Given the description of an element on the screen output the (x, y) to click on. 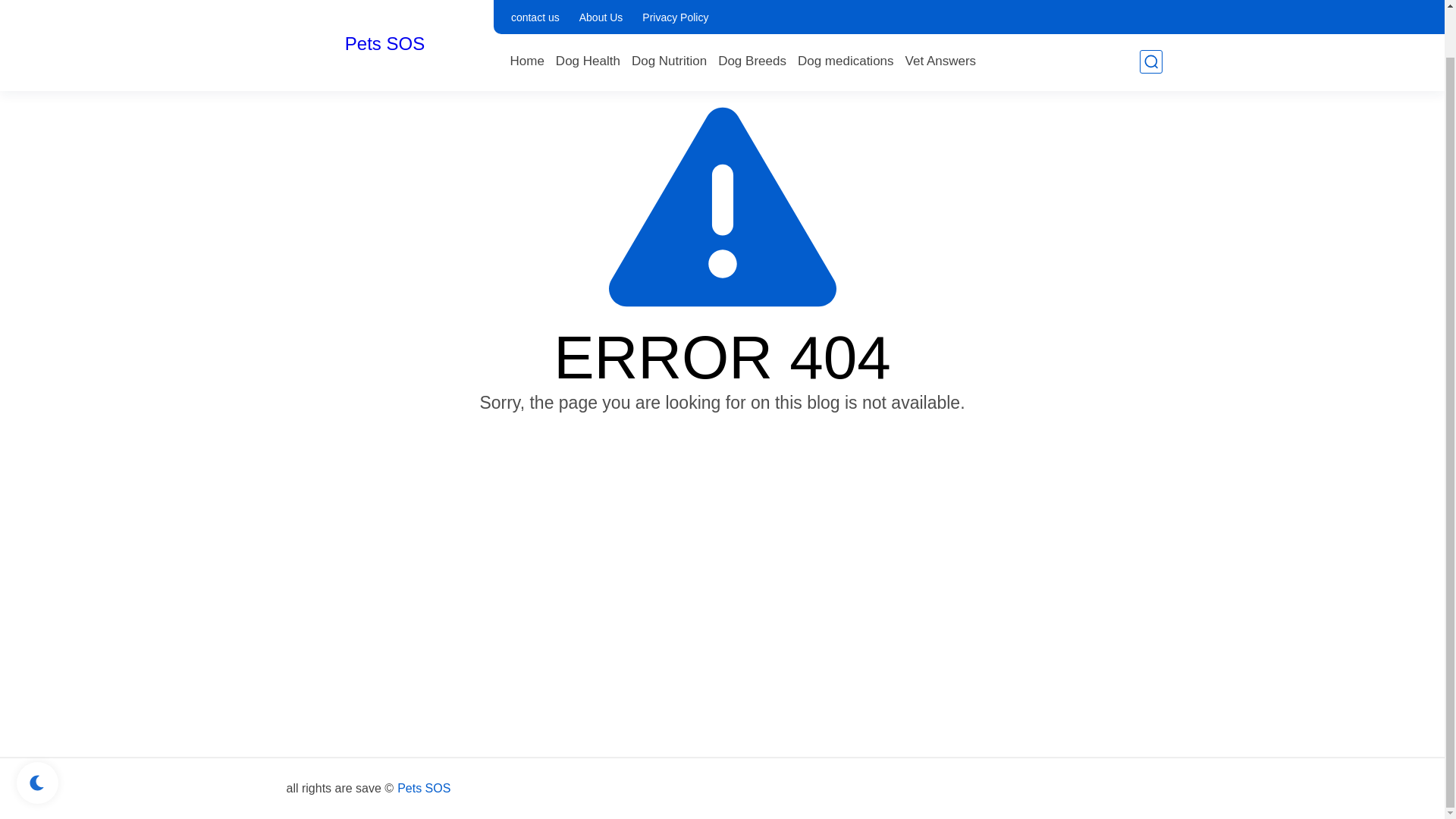
Dog medications (845, 10)
Dog Health (588, 10)
Dog medications (845, 10)
Home (526, 10)
Pets SOS (385, 2)
Home (526, 10)
Pets SOS (385, 2)
Vet Answers (940, 10)
Dog Breeds (751, 10)
Pets SOS (423, 788)
